Given the description of an element on the screen output the (x, y) to click on. 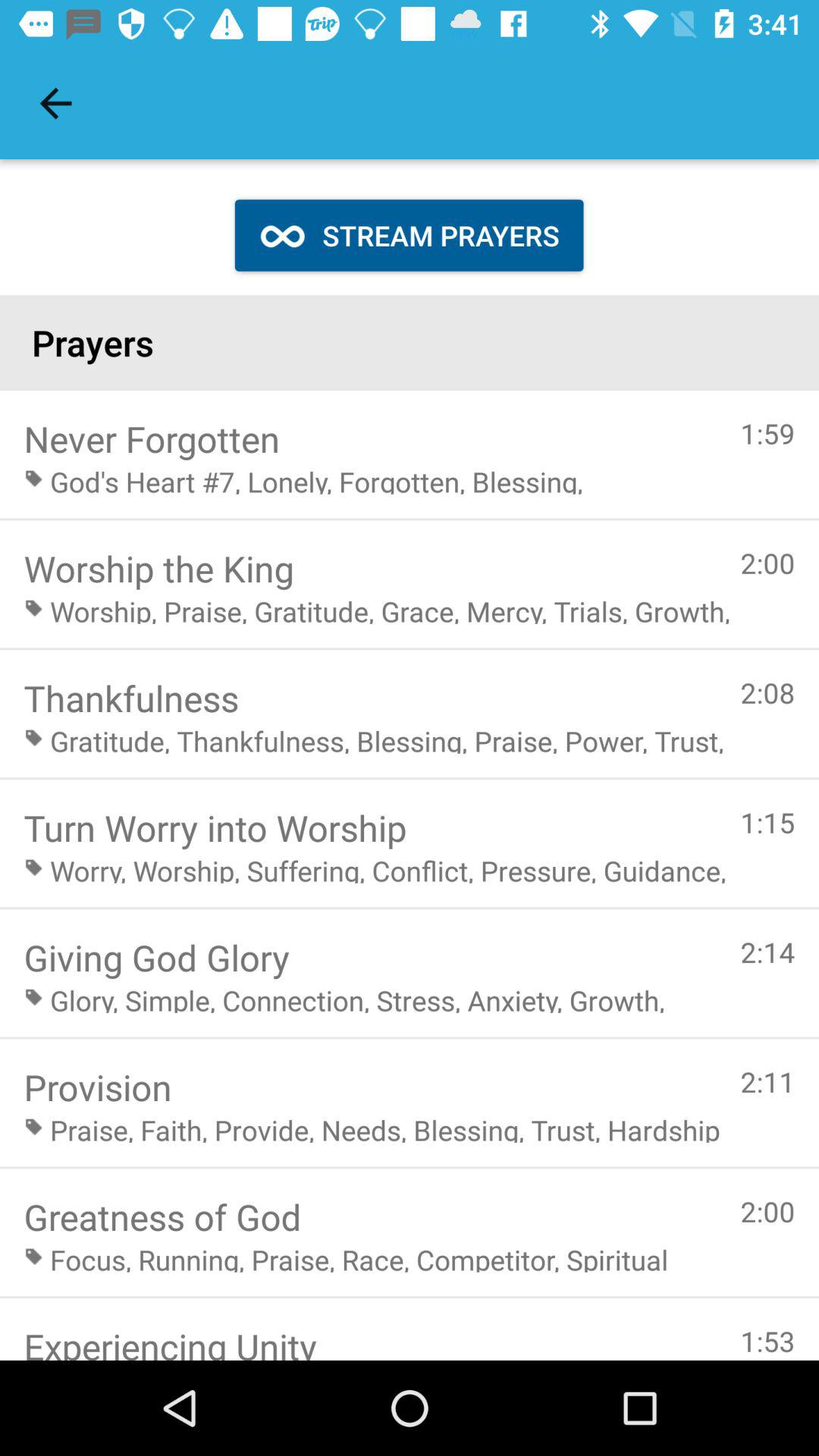
jump to the stream prayers item (408, 235)
